Given the description of an element on the screen output the (x, y) to click on. 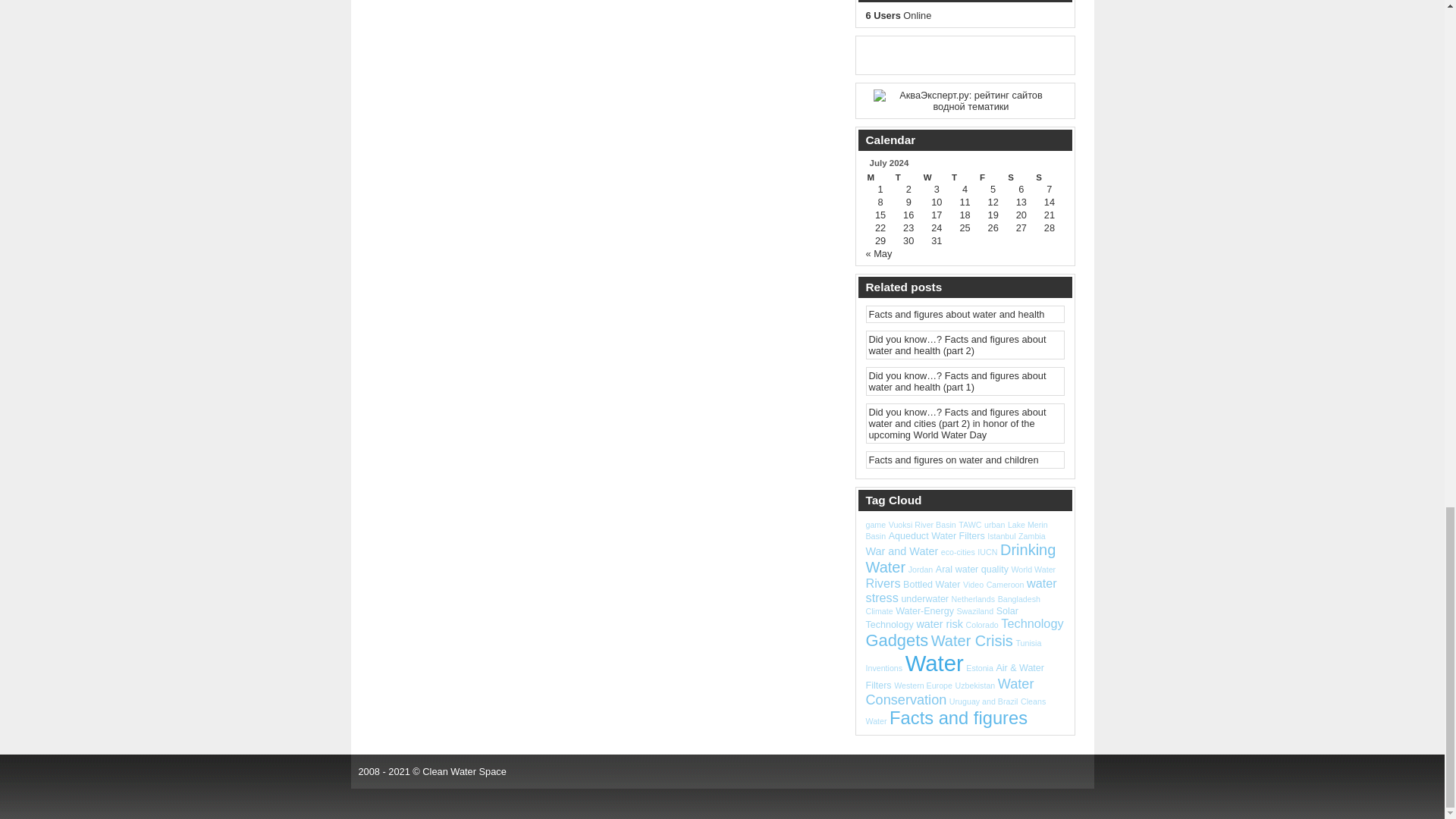
6 Users Online (898, 15)
Monday (880, 176)
